Given the description of an element on the screen output the (x, y) to click on. 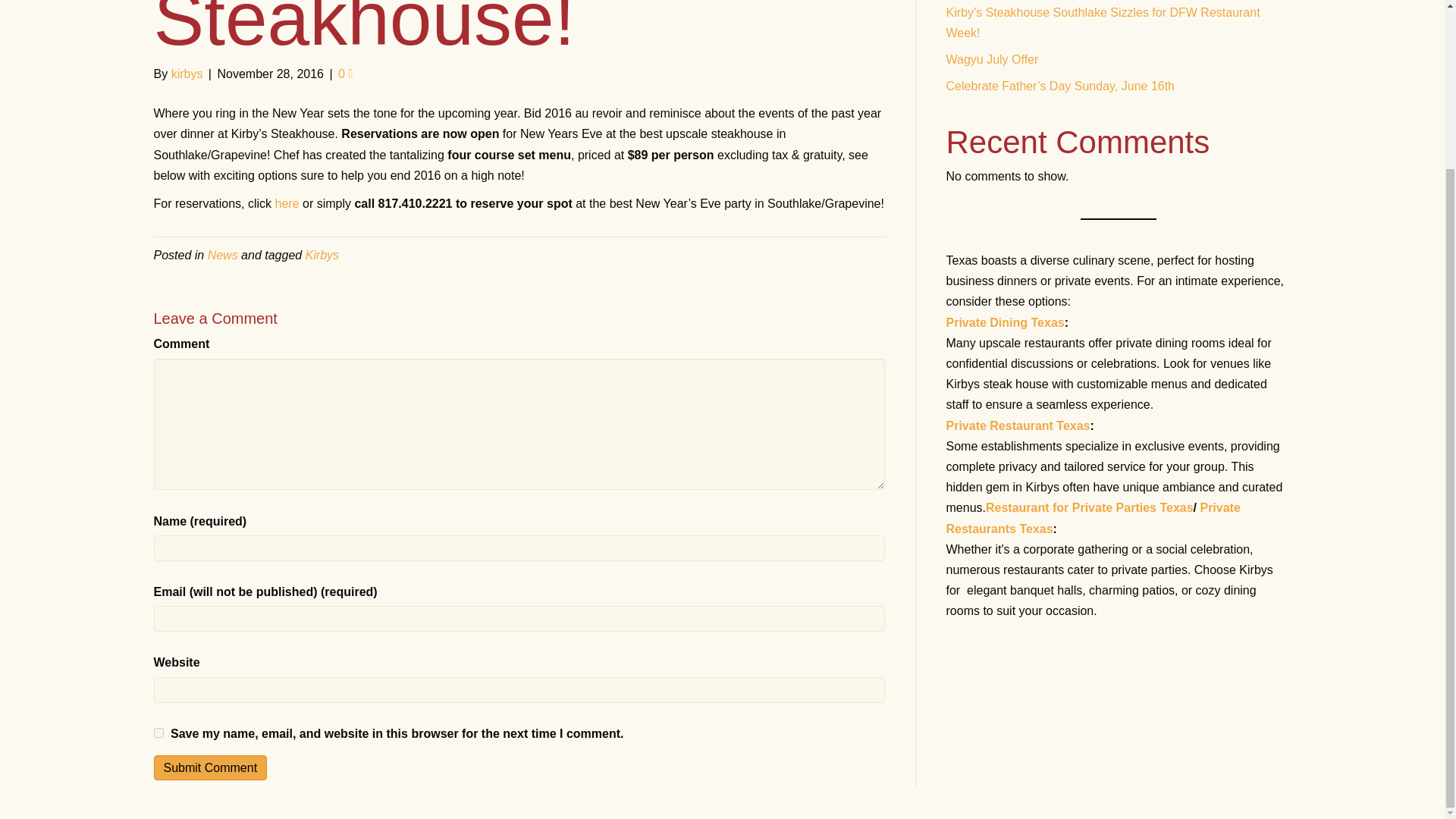
Restaurant for Private Parties Texas (1089, 507)
Private Restaurants Texas (1093, 517)
News (223, 254)
yes (157, 732)
Private Dining Texas (1005, 322)
here (288, 203)
Kirbys (322, 254)
Submit Comment (209, 767)
Private Restaurant Texas (1018, 425)
Wagyu July Offer (992, 59)
0 (344, 73)
Submit Comment (209, 767)
kirbys (187, 73)
